Given the description of an element on the screen output the (x, y) to click on. 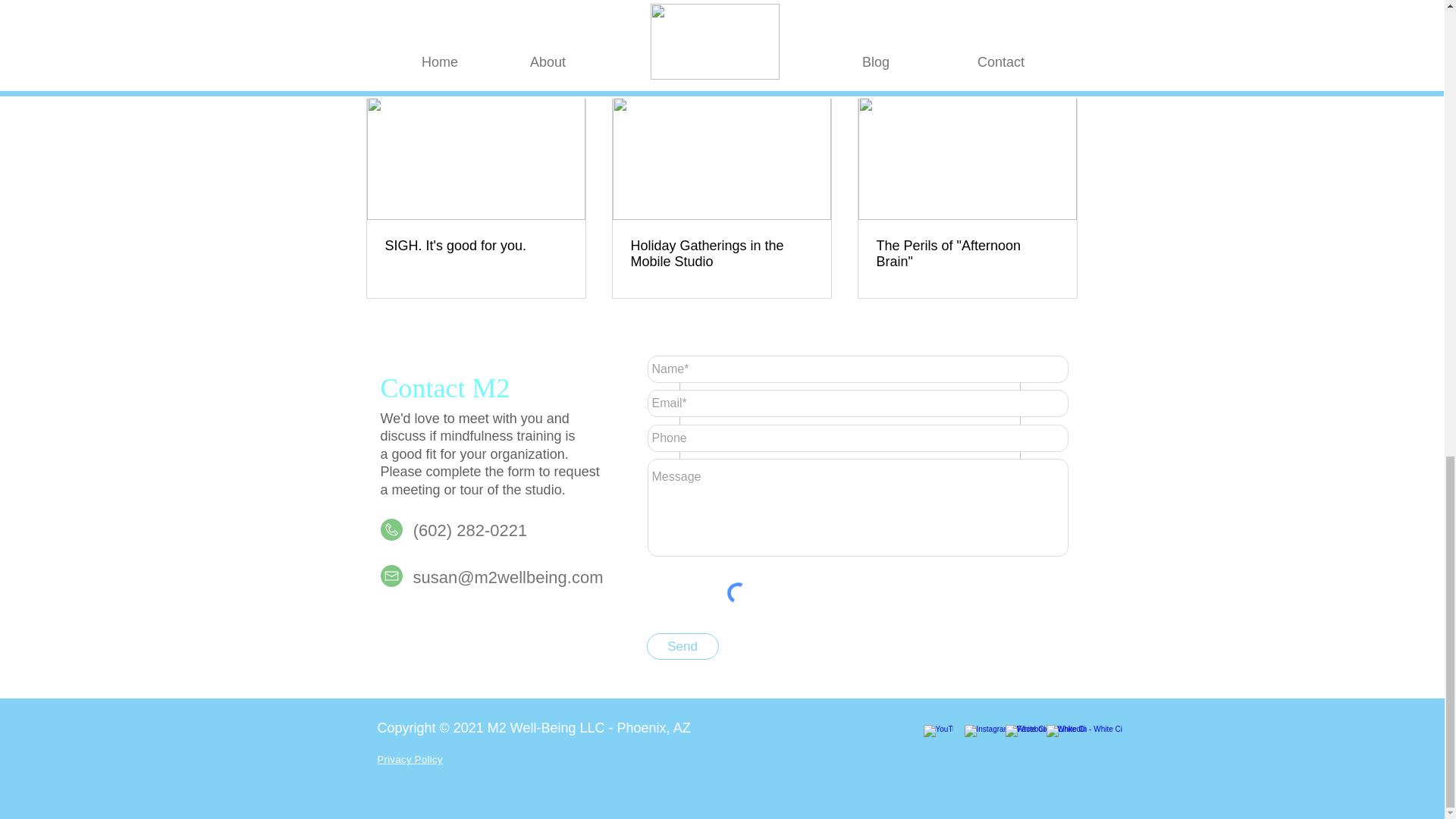
SIGH. It's good for you. (476, 245)
See All (1061, 69)
Holiday Gatherings in the Mobile Studio (721, 254)
form-bk.png (849, 457)
